Given the description of an element on the screen output the (x, y) to click on. 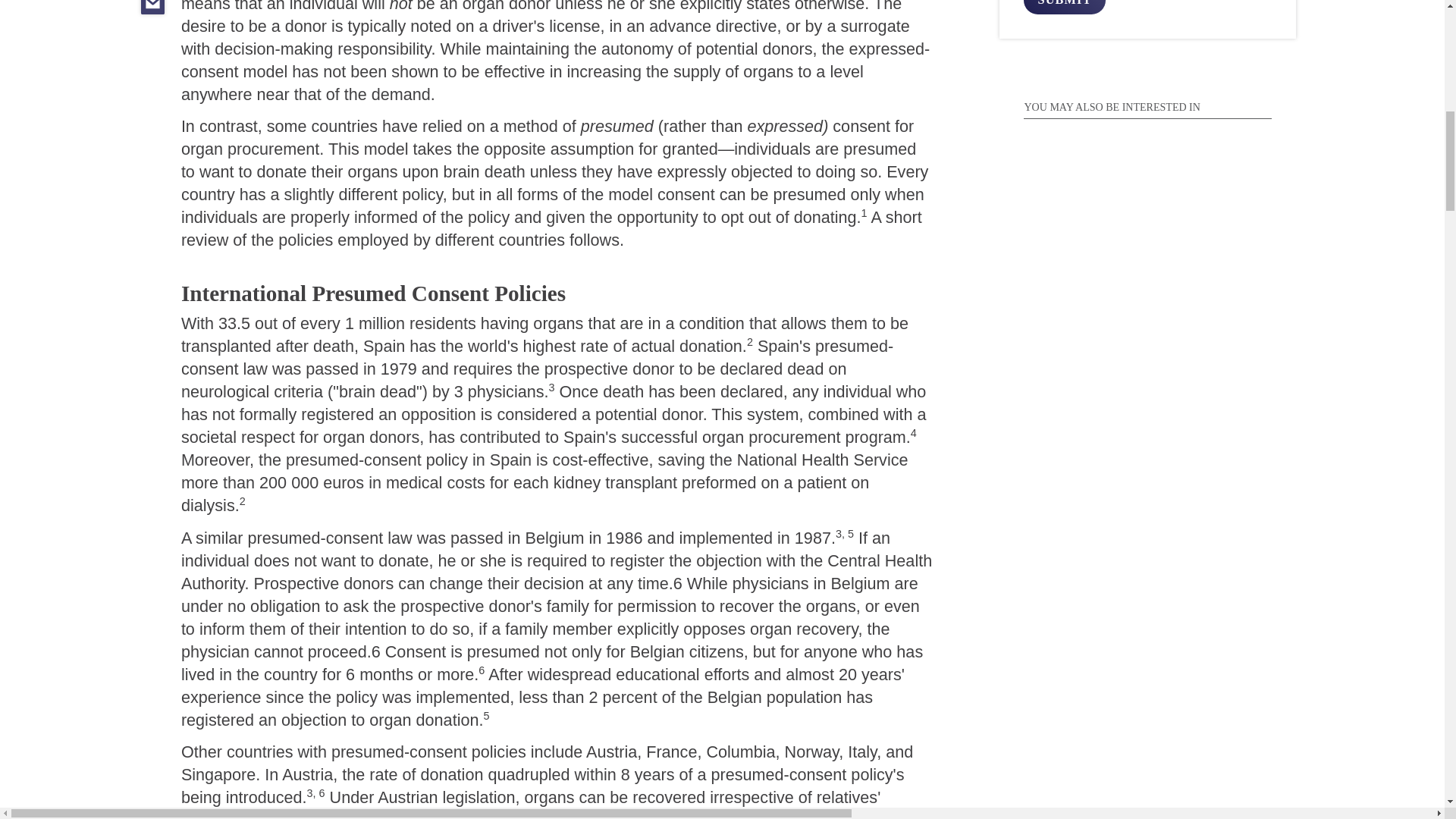
alt (1064, 6)
